Given the description of an element on the screen output the (x, y) to click on. 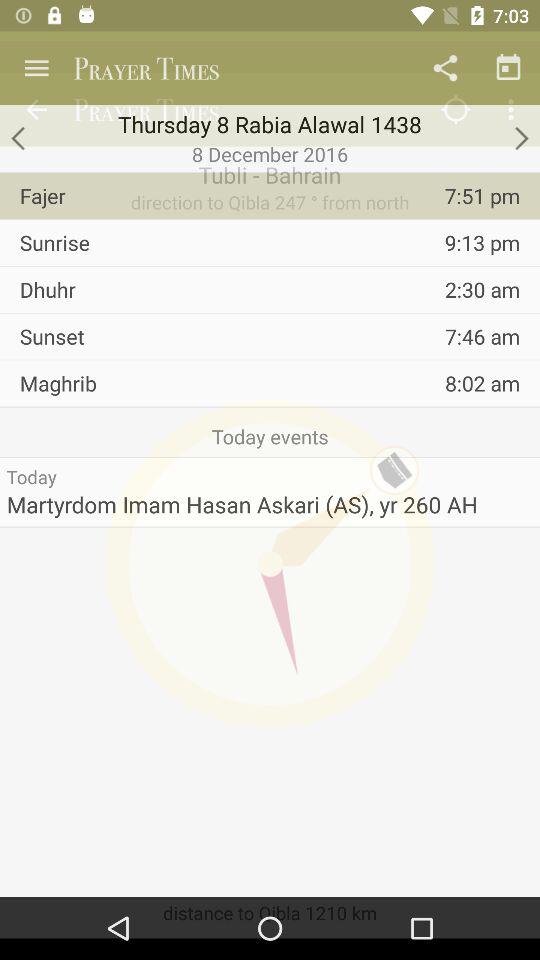
go back (19, 138)
